Given the description of an element on the screen output the (x, y) to click on. 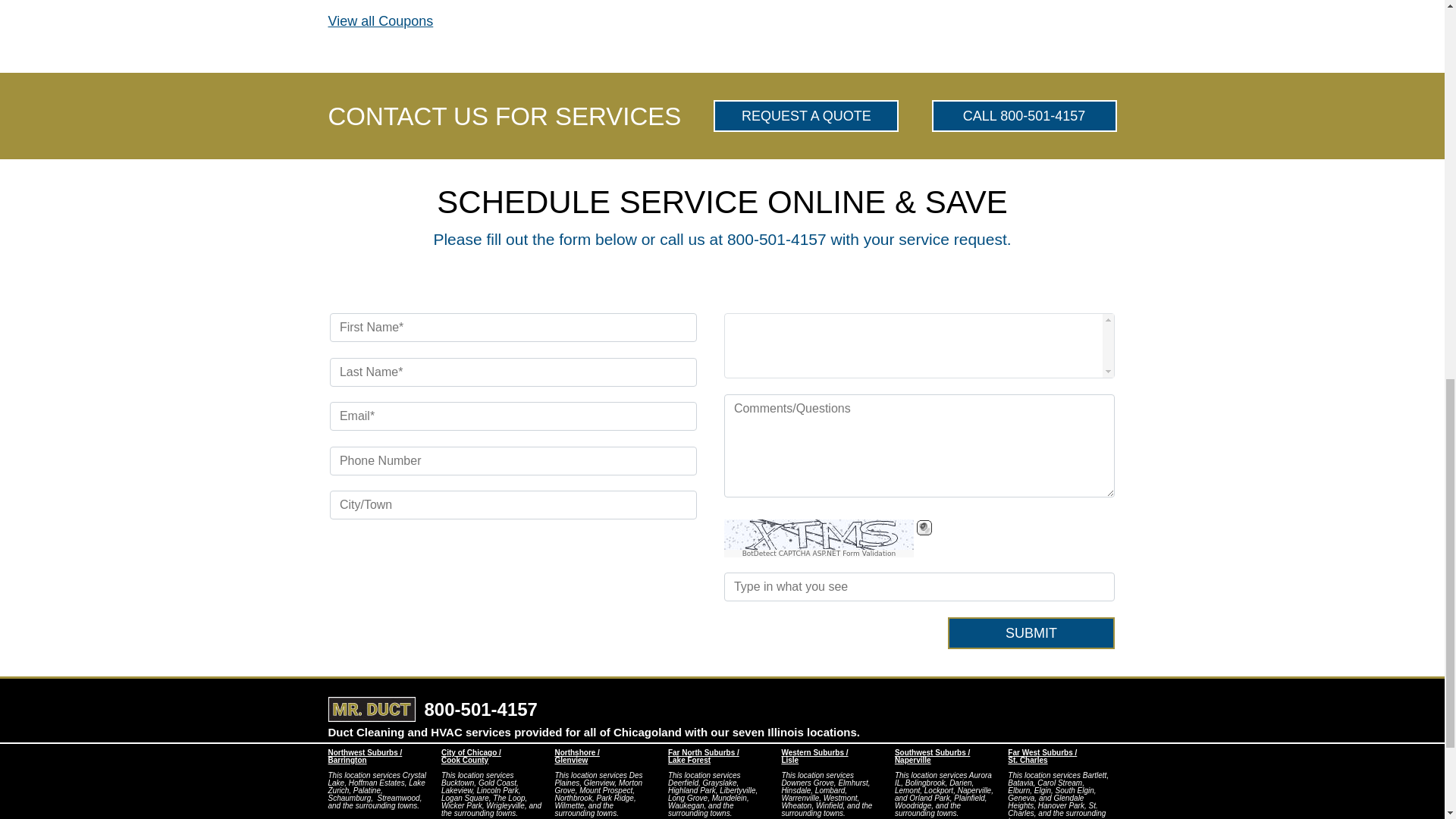
BotDetect CAPTCHA ASP.NET Form Validation (818, 553)
Mr. Duct Logo (370, 708)
Submit (1031, 633)
Speak the CAPTCHA code (924, 527)
